Given the description of an element on the screen output the (x, y) to click on. 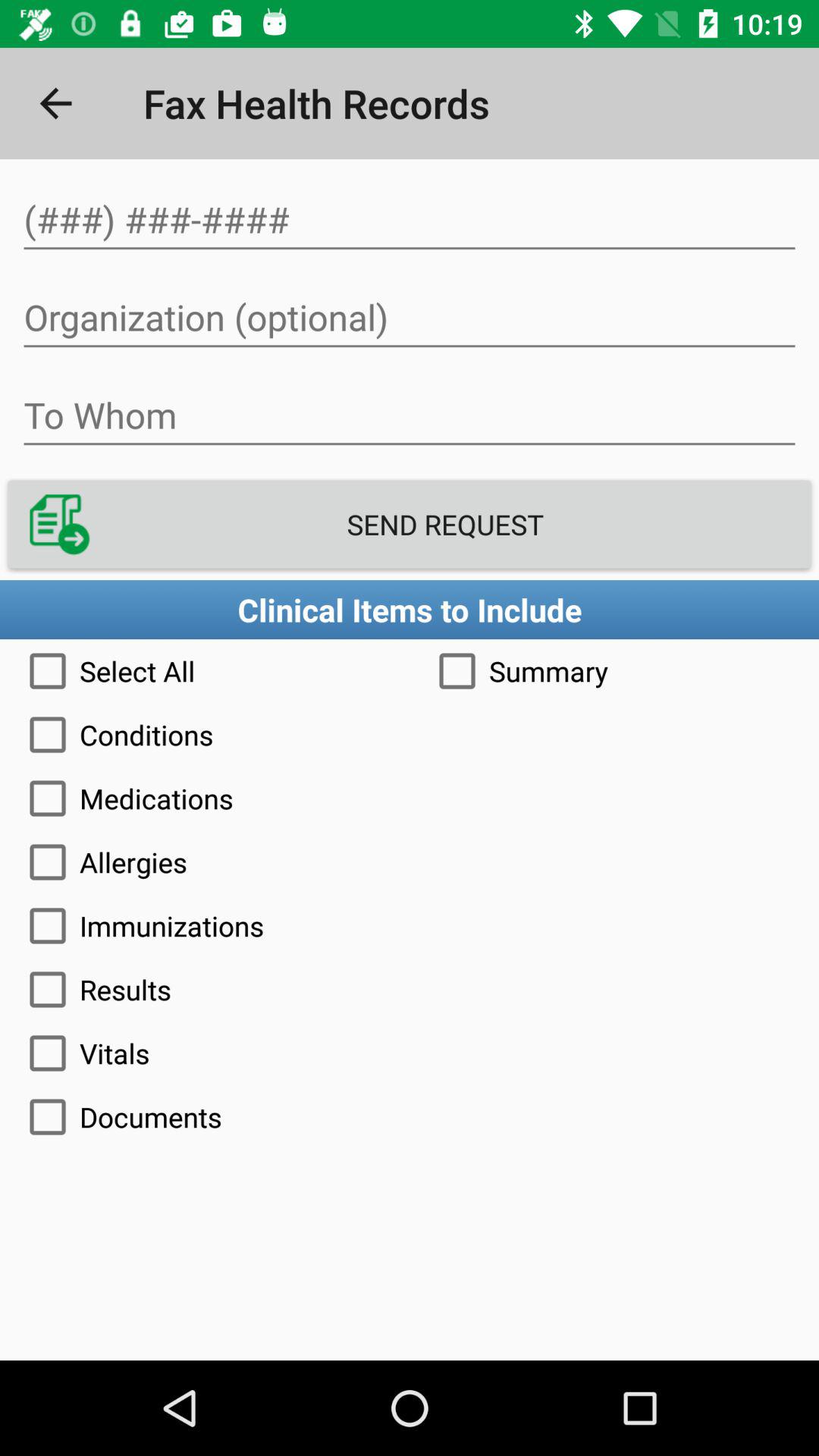
scroll to medications icon (409, 798)
